Given the description of an element on the screen output the (x, y) to click on. 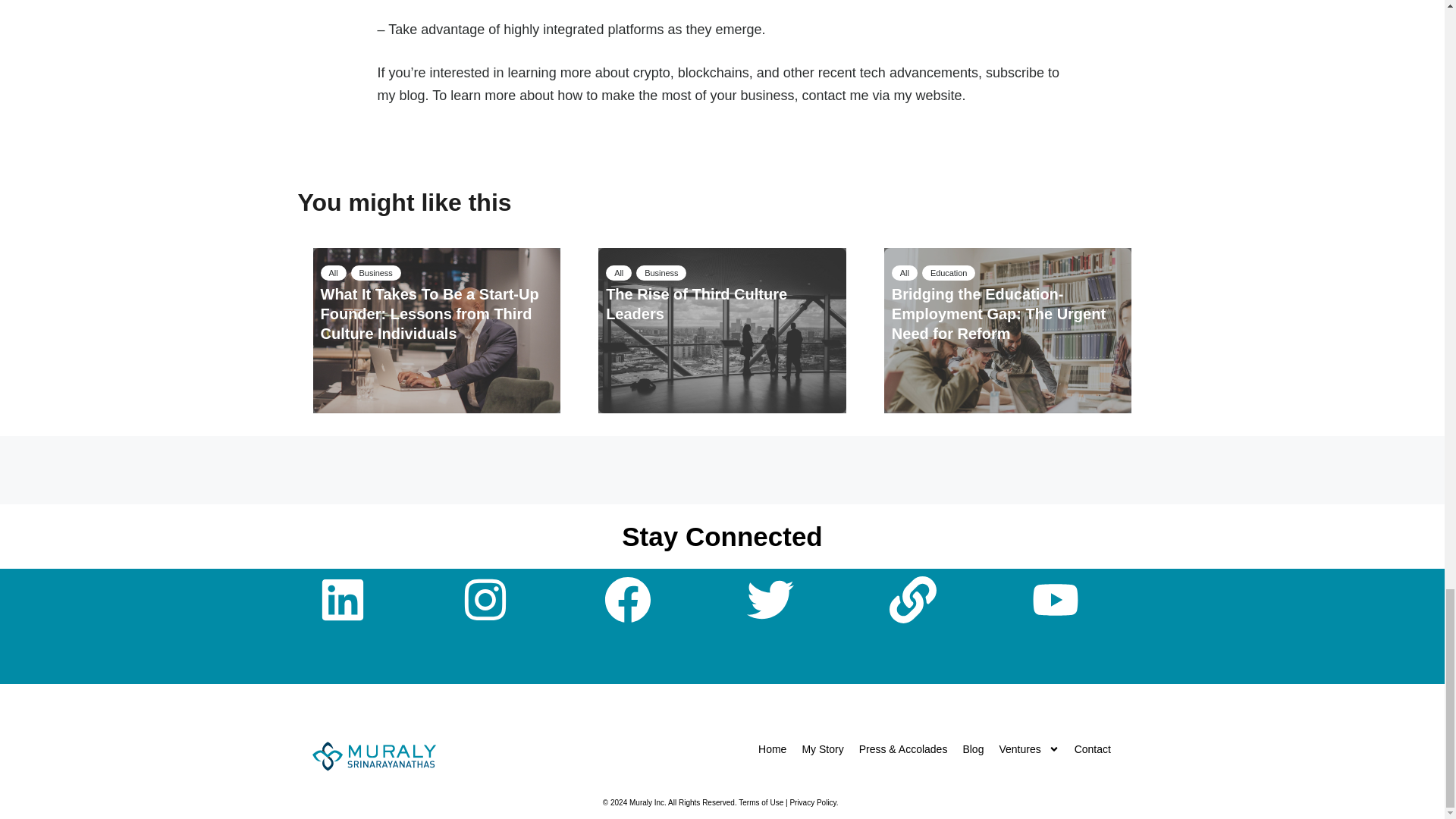
website (938, 95)
The Rise of Third Culture Leaders (696, 303)
subscribe to my blog (718, 84)
